Given the description of an element on the screen output the (x, y) to click on. 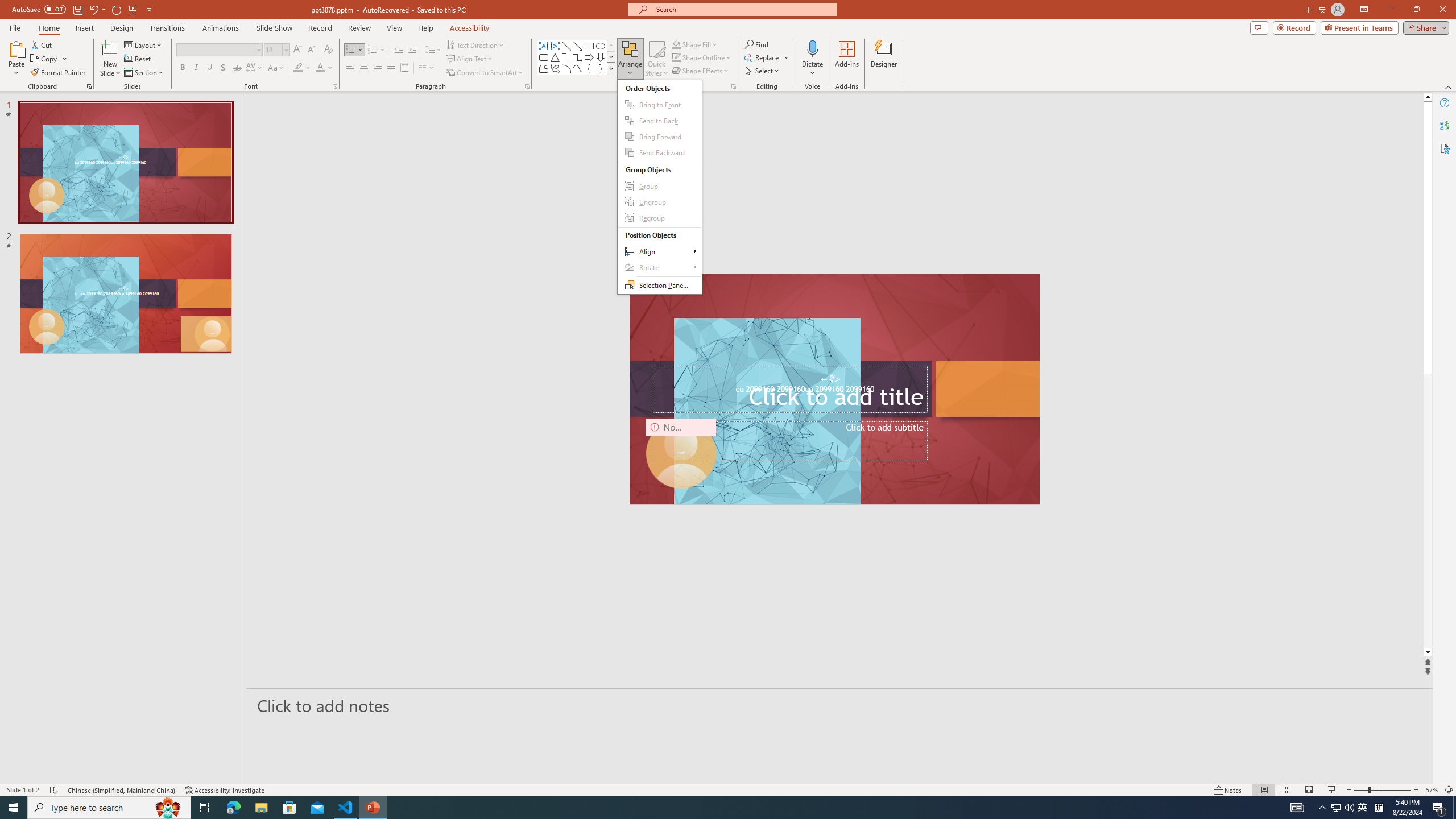
Camera 9, No camera detected. (681, 453)
Font Color (324, 67)
Character Spacing (254, 67)
Arrange (630, 58)
Office Clipboard... (88, 85)
TextBox 61 (833, 390)
Bold (182, 67)
